Given the description of an element on the screen output the (x, y) to click on. 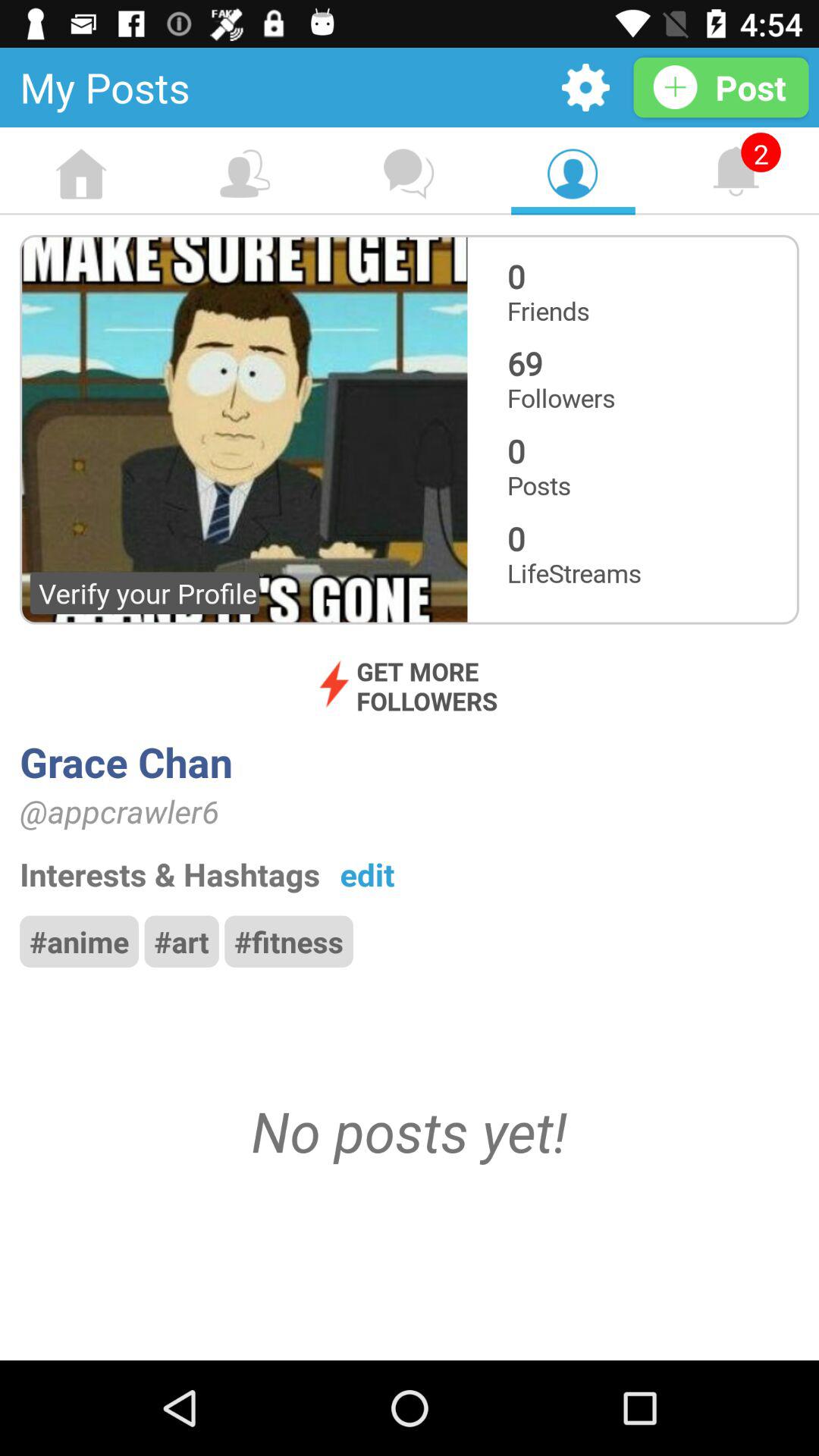
tap the item to the right of #art icon (288, 941)
